Given the description of an element on the screen output the (x, y) to click on. 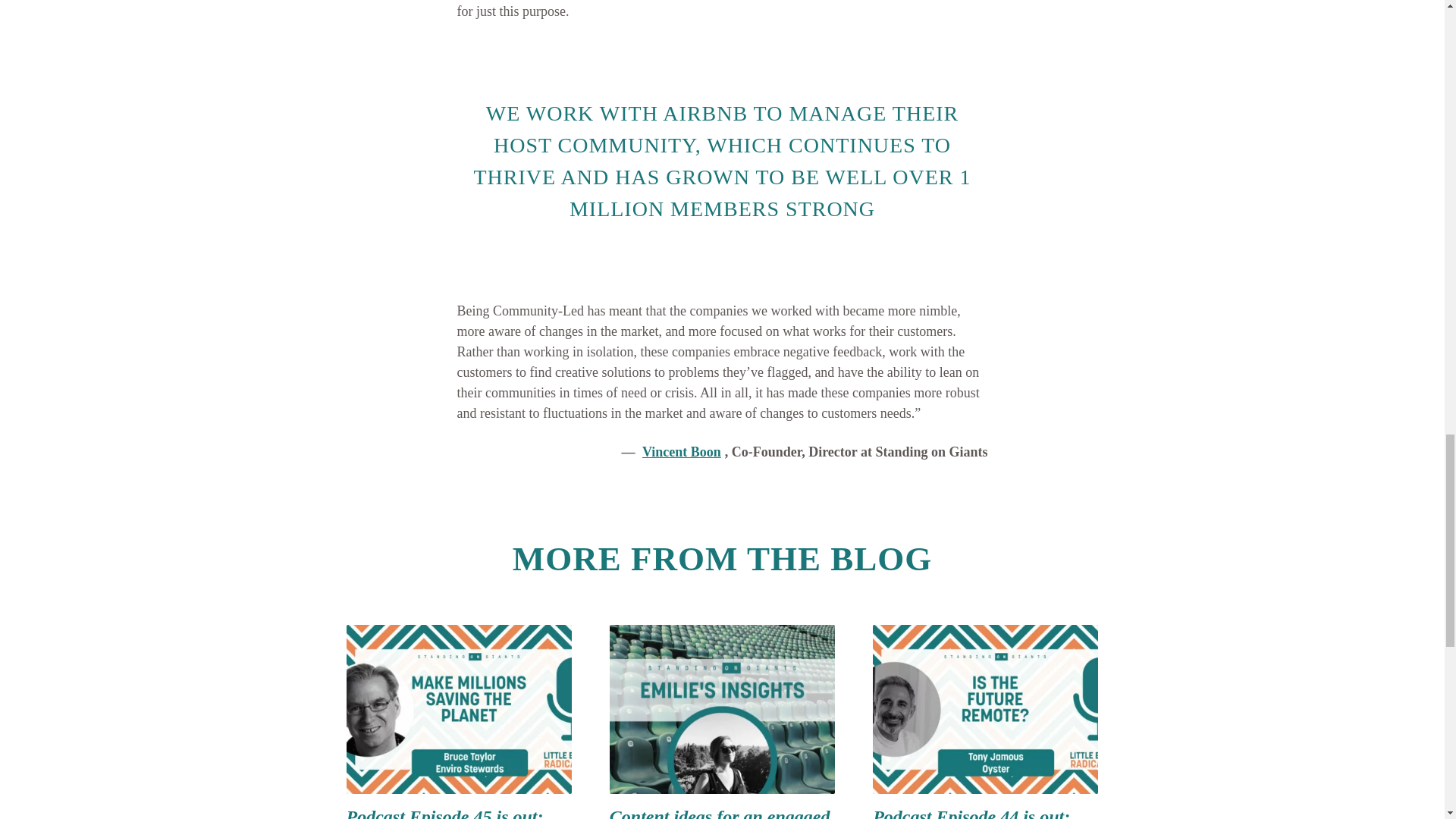
Host Board (494, 0)
Podcast Episode 44 is out: Tony Jamous from Oyster (971, 812)
Podcast Episode 45 is out: Bruce Taylor from Enviro Stewards (444, 812)
Vincent Boon (682, 452)
Content ideas for an engaged employee community (719, 812)
